Given the description of an element on the screen output the (x, y) to click on. 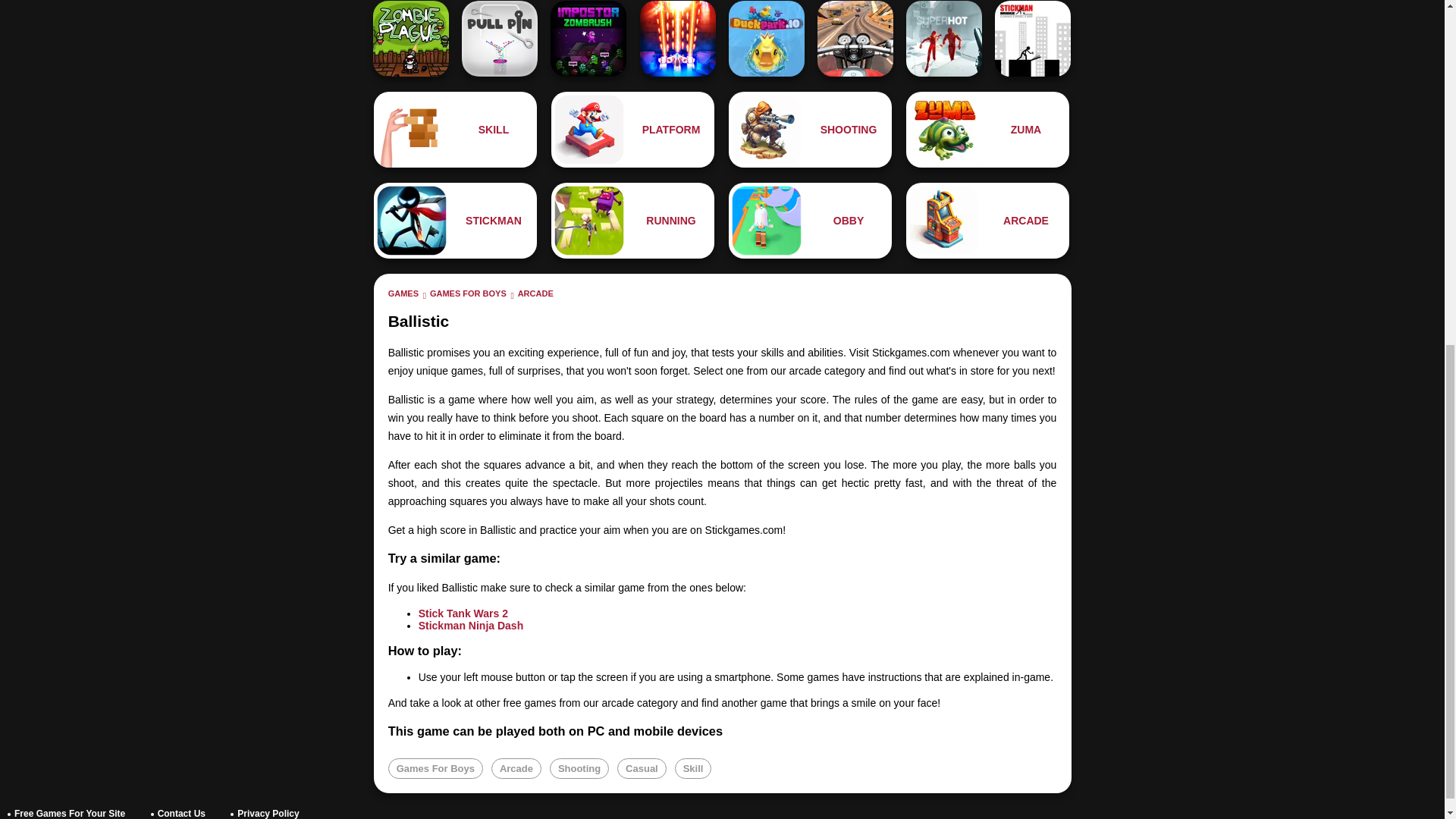
GAMES FOR BOYS (467, 293)
Pull Pin (499, 38)
ZUMA (986, 129)
ARCADE (986, 220)
ARCADE (535, 293)
Games For Boys (435, 768)
PLATFORM (632, 129)
OBBY (810, 220)
GAMES (403, 293)
Stickman Ninja Dash (471, 625)
STICKMAN (455, 220)
Impostor Zombrush (588, 38)
Shooting (810, 129)
Arcade (516, 768)
DuckPark.io (767, 38)
